Given the description of an element on the screen output the (x, y) to click on. 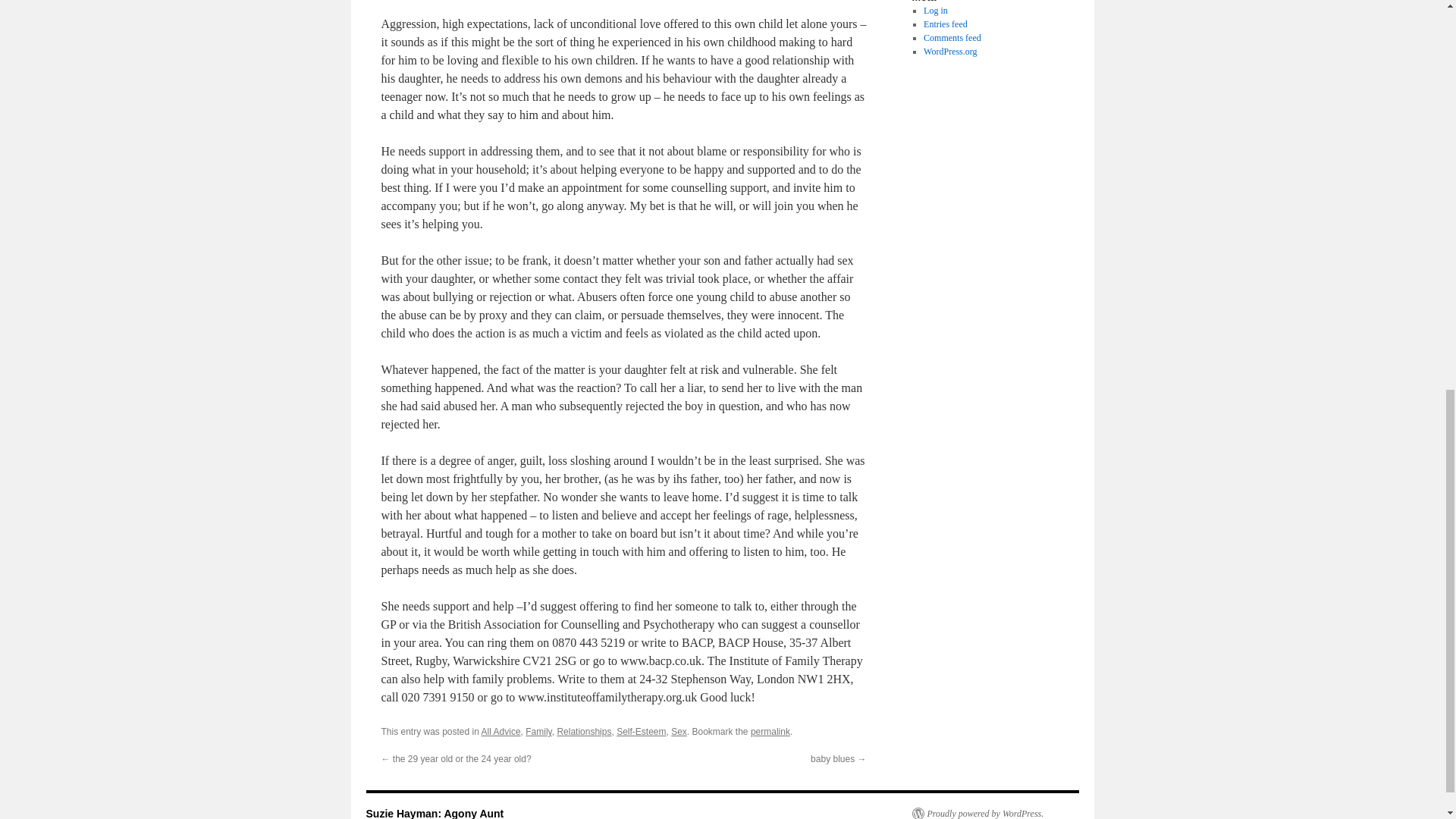
Family (538, 731)
Relationships (583, 731)
permalink (770, 731)
All Advice (501, 731)
Self-Esteem (640, 731)
Entries feed (945, 23)
Log in (935, 9)
Sex (679, 731)
